Given the description of an element on the screen output the (x, y) to click on. 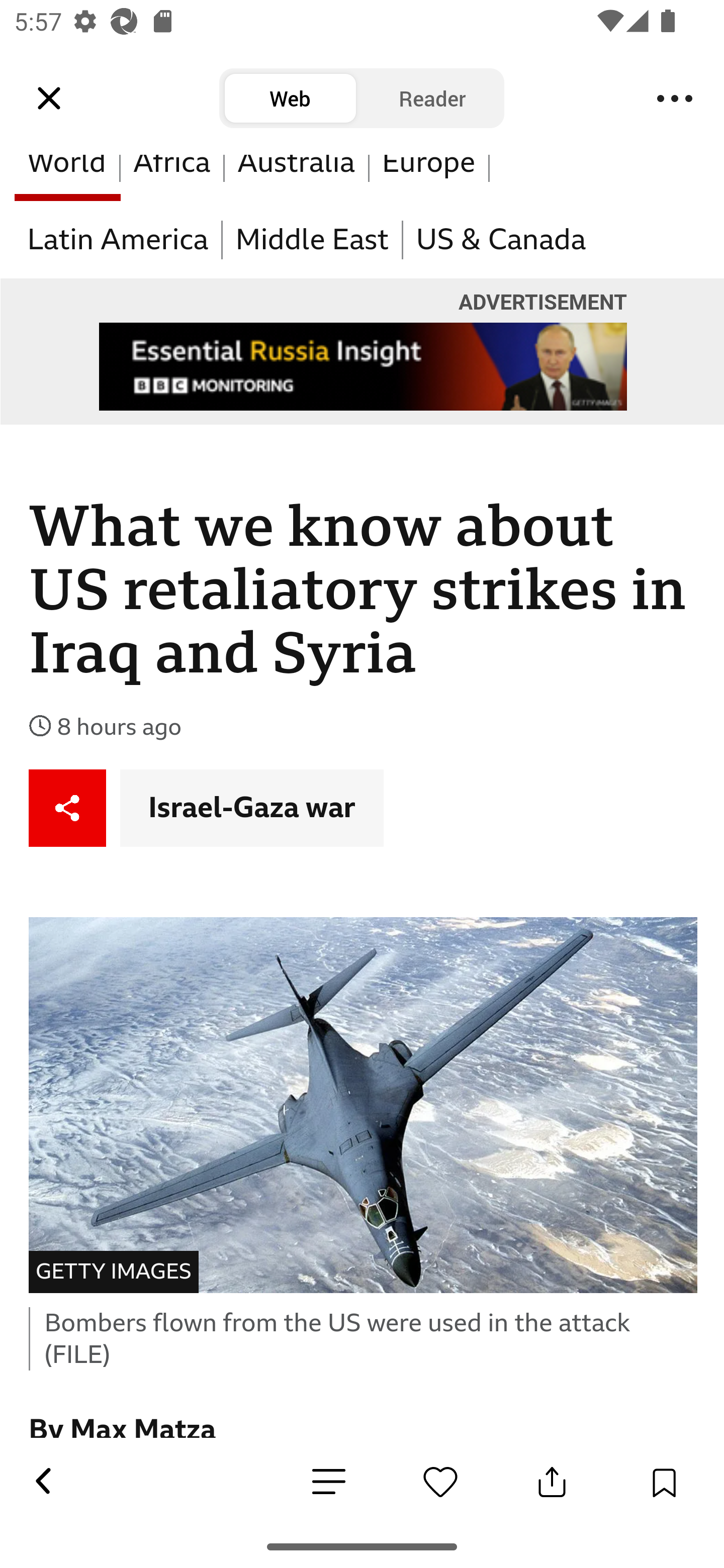
Reader (432, 98)
Menu (674, 98)
Leading Icon (49, 98)
World (67, 177)
Africa (172, 177)
Australia (296, 177)
Europe (428, 177)
Latin America (118, 240)
Middle East (312, 240)
US & Canada (499, 240)
Share (67, 807)
Israel-Gaza war (252, 807)
Back Button (42, 1481)
News Detail Emotion (440, 1481)
Share Button (551, 1481)
Save Button (663, 1481)
News Detail Emotion (329, 1482)
